Given the description of an element on the screen output the (x, y) to click on. 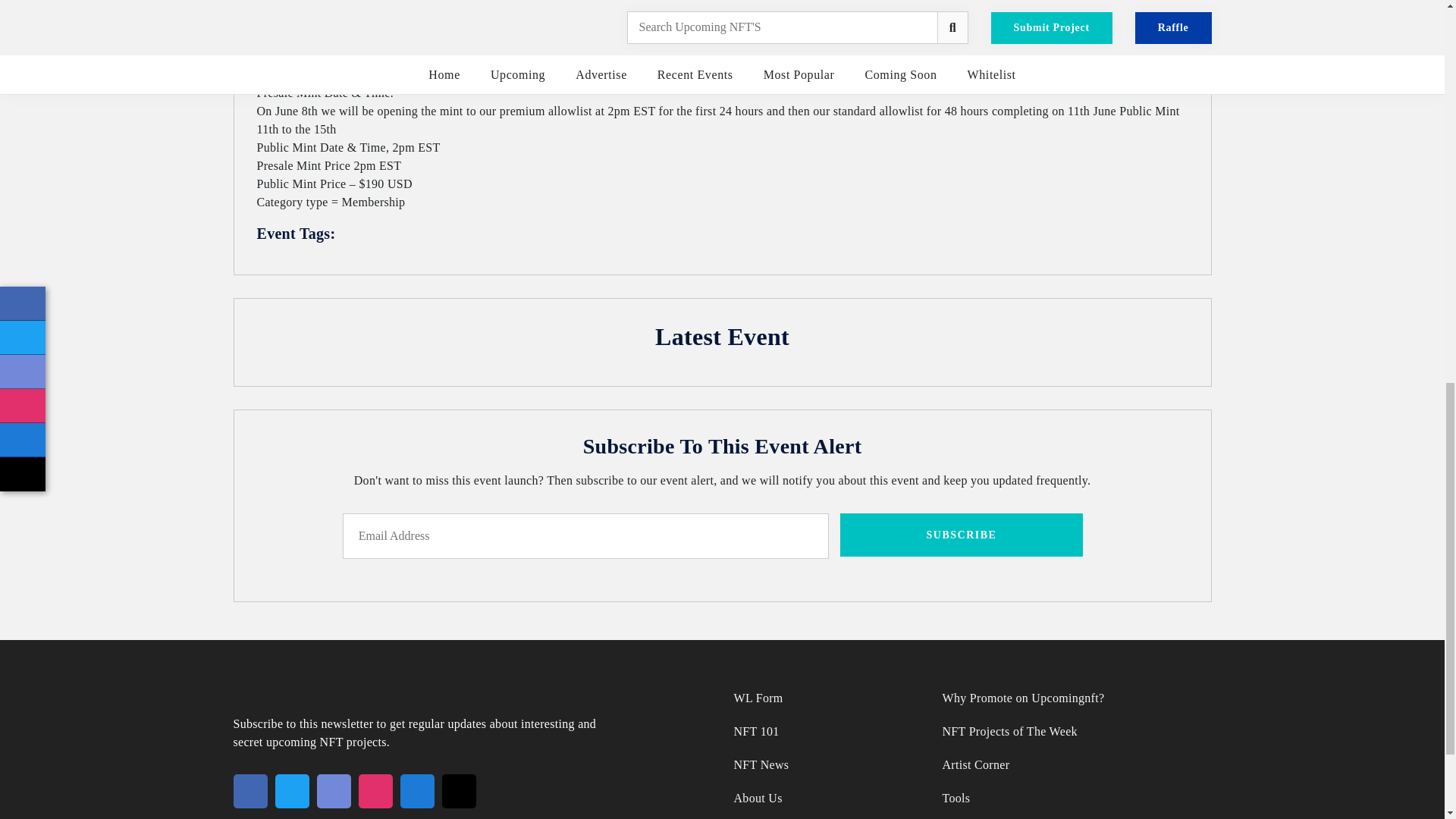
Subscribe (961, 534)
Subscribe (961, 534)
